Given the description of an element on the screen output the (x, y) to click on. 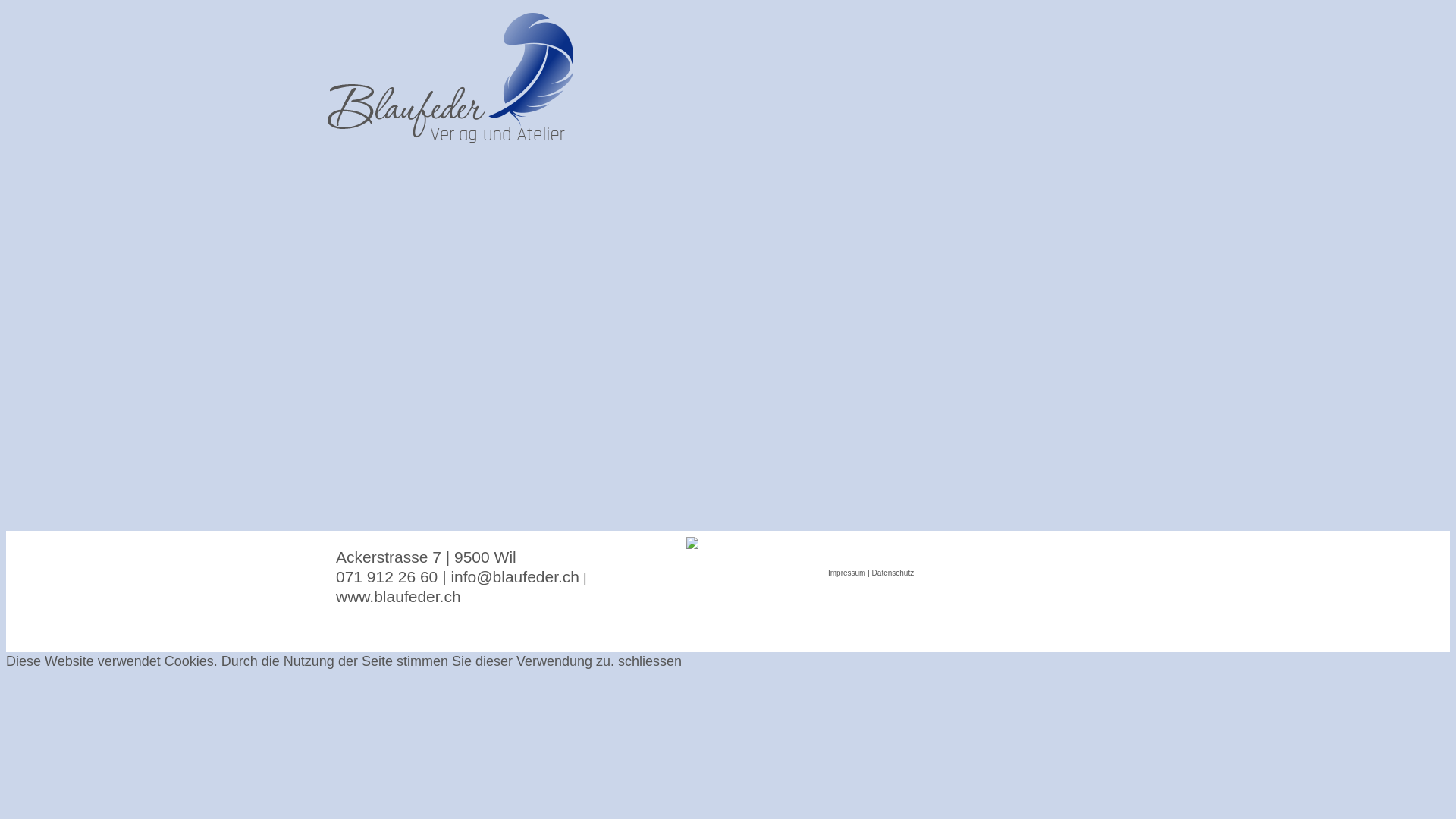
www.blaufeder.ch Element type: text (398, 597)
info@blaufeder.ch | Element type: text (518, 577)
Impressum | Datenschutz Element type: text (870, 570)
